Given the description of an element on the screen output the (x, y) to click on. 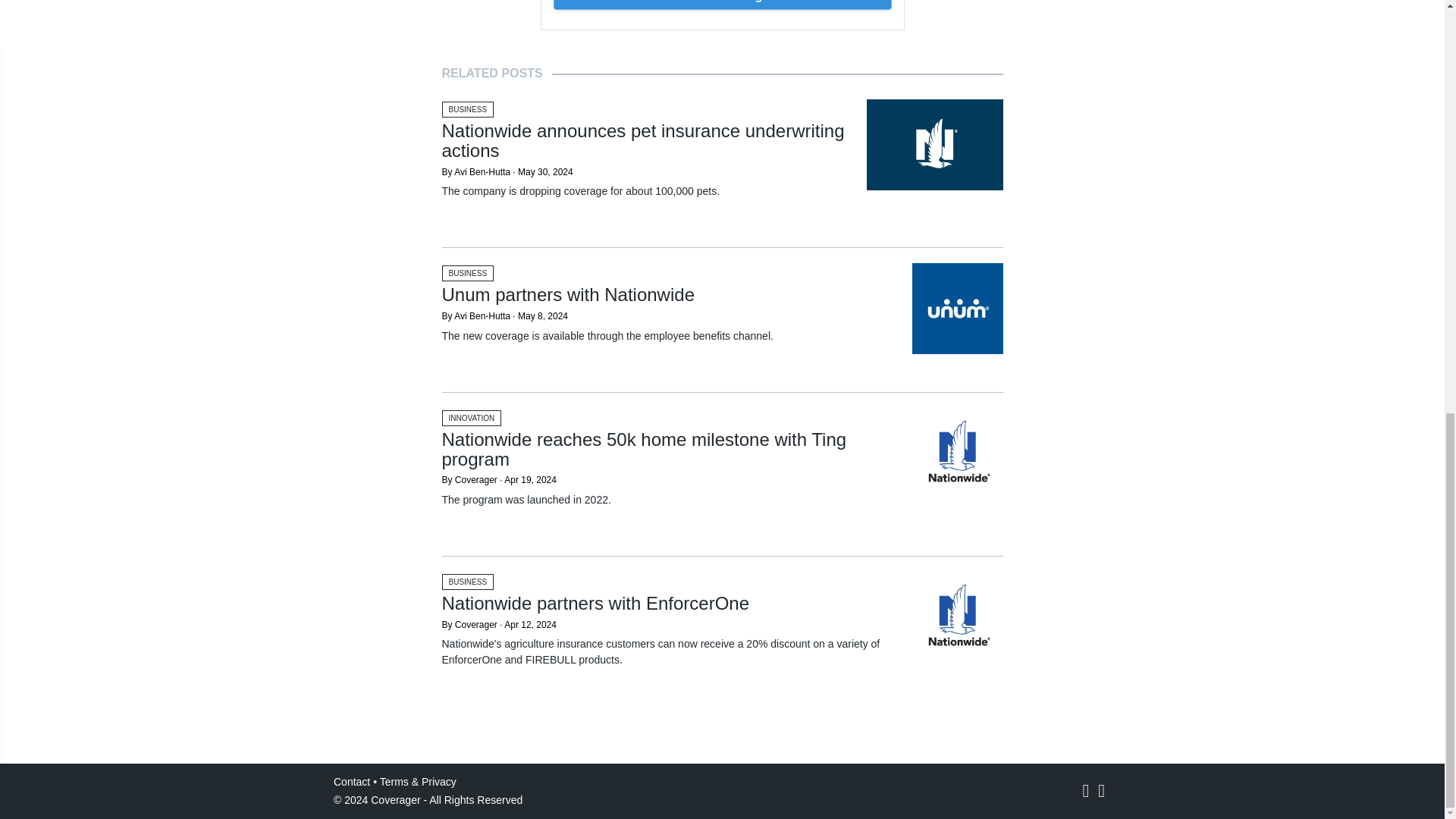
Subscribe to Coverager news (722, 4)
